Given the description of an element on the screen output the (x, y) to click on. 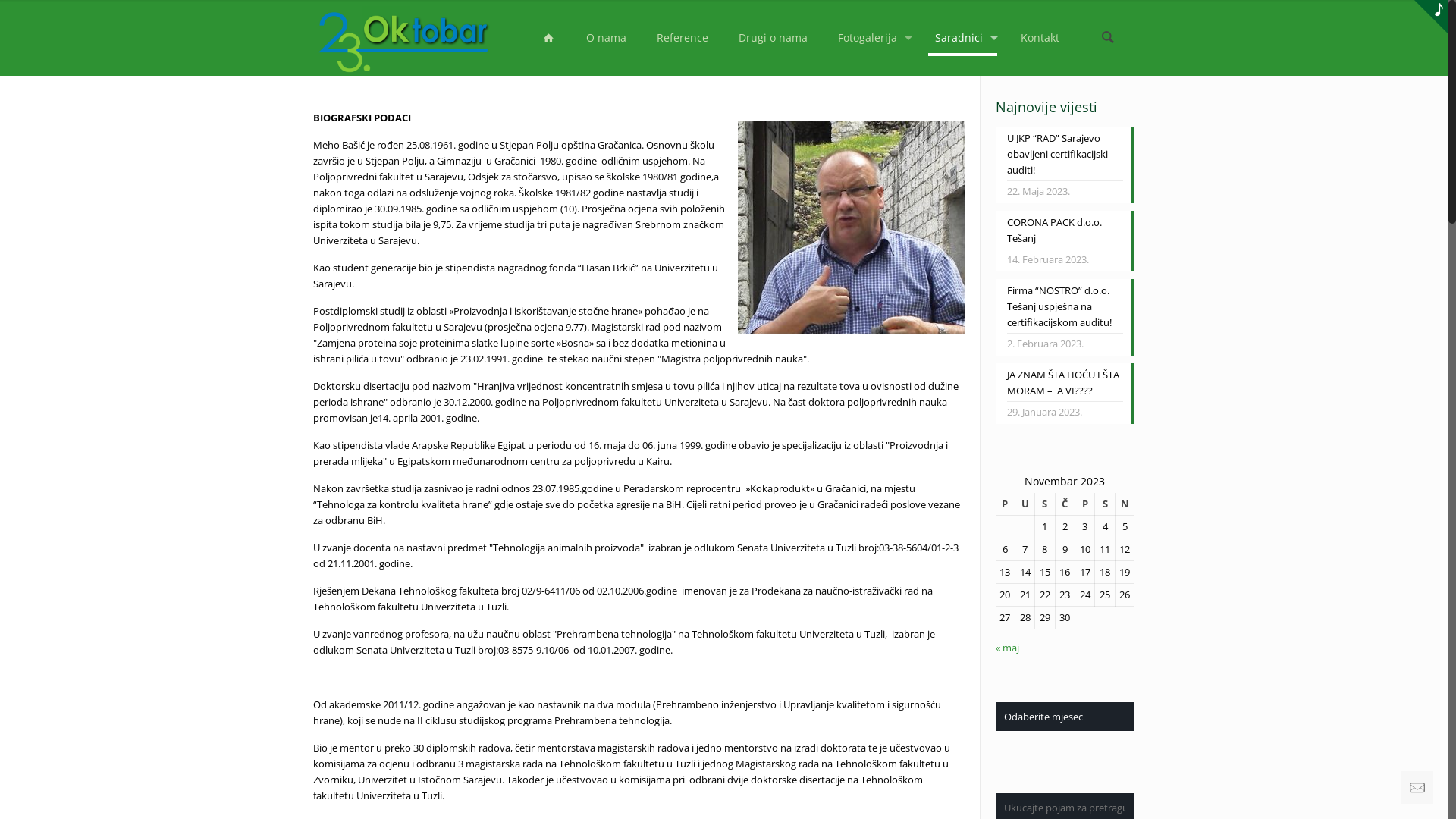
Drugi o nama Element type: text (772, 37)
Reference Element type: text (682, 37)
Kontakt Element type: text (1039, 37)
Fotogalerija Element type: text (870, 37)
O nama Element type: text (606, 37)
23 oktobar Element type: hover (402, 37)
Saradnici Element type: text (962, 37)
